Given the description of an element on the screen output the (x, y) to click on. 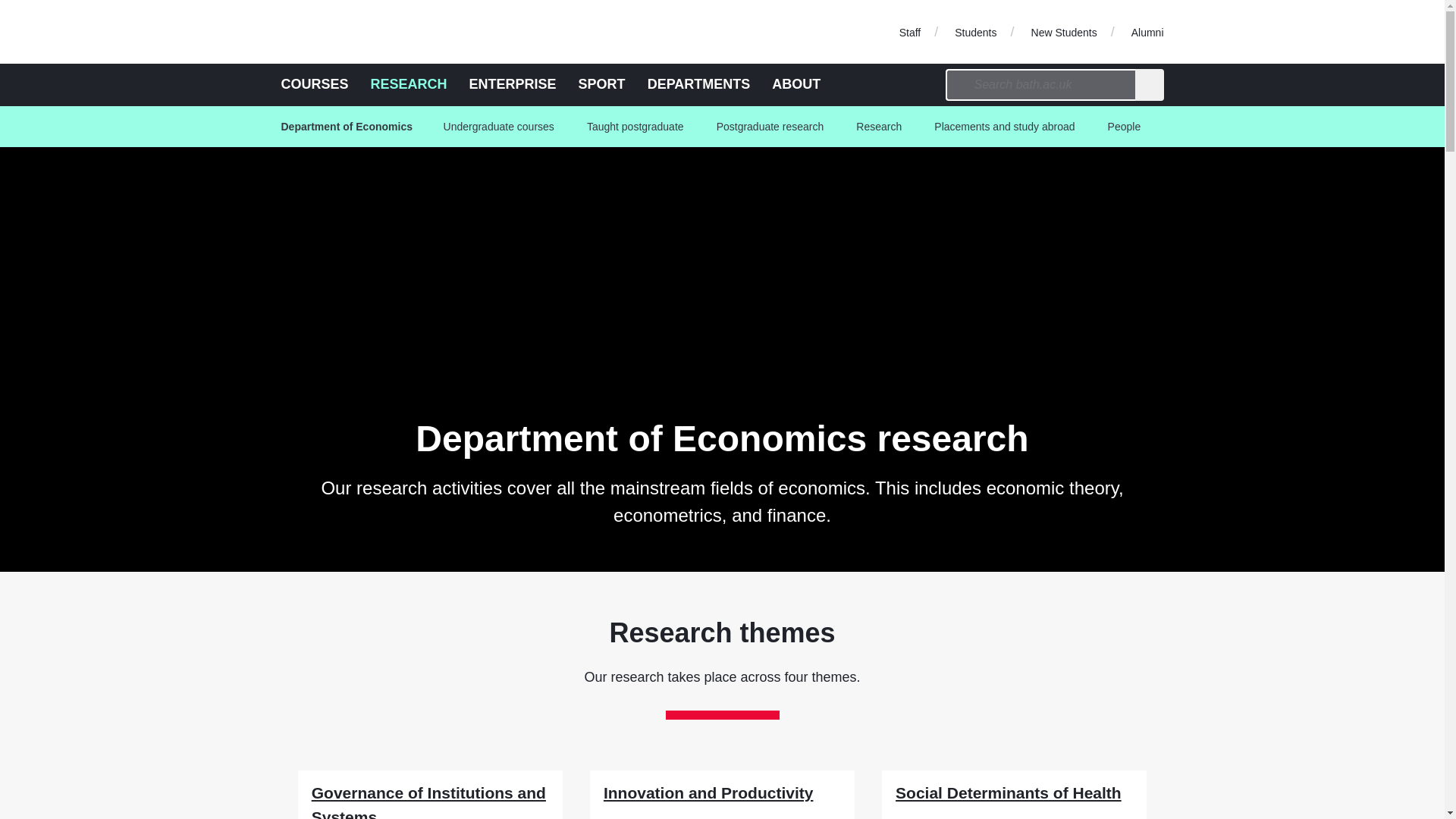
DEPARTMENTS (699, 83)
Staff (910, 31)
University of Bath (348, 31)
Department of Economics (351, 126)
Alumni (1147, 31)
Type search term here (1039, 84)
ABOUT (796, 83)
RESEARCH (408, 83)
ENTERPRISE (512, 83)
SPORT (602, 83)
